Given the description of an element on the screen output the (x, y) to click on. 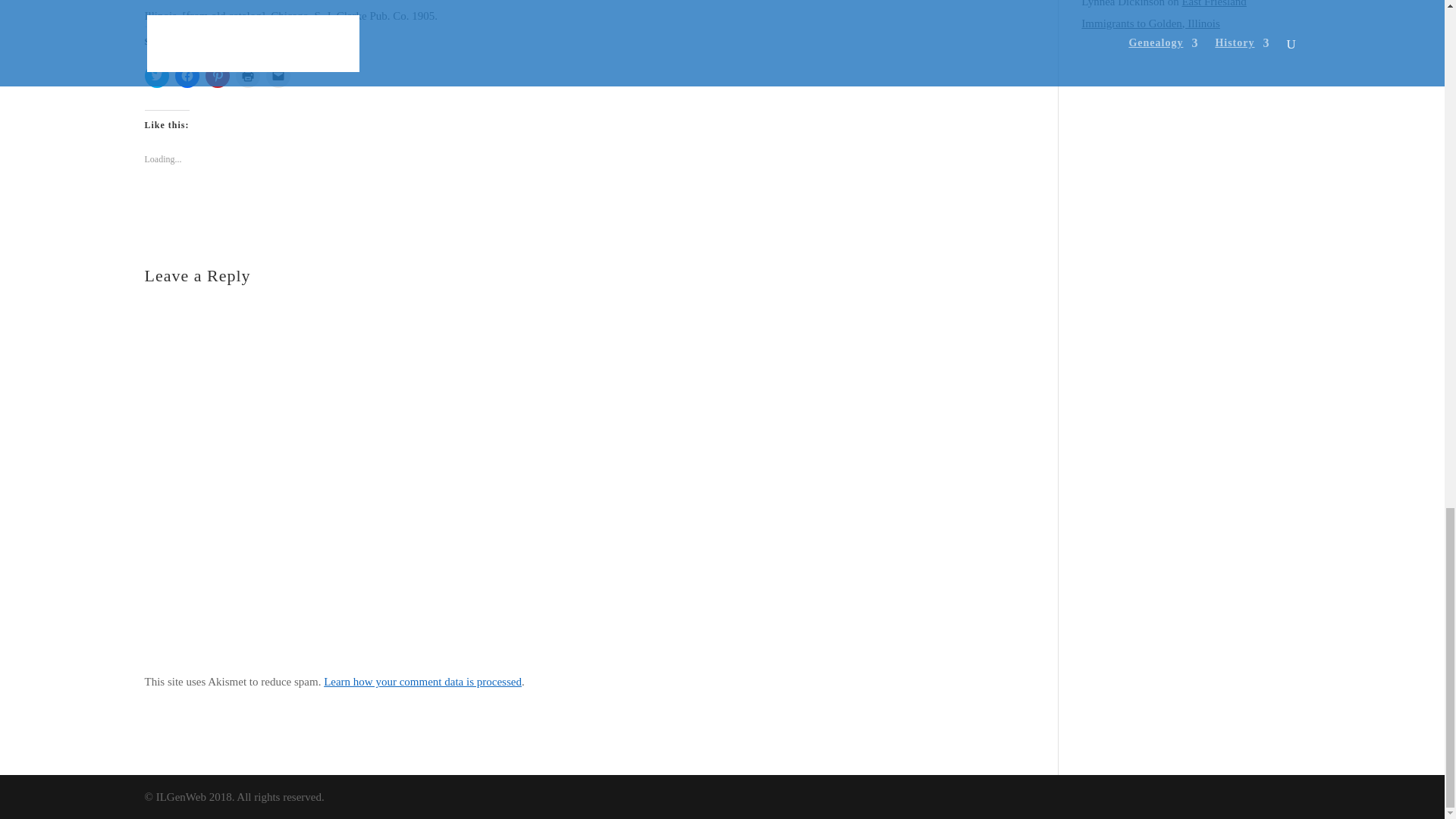
Click to email a link to a friend (276, 75)
Learn how your comment data is processed (422, 681)
Click to share on Pinterest (216, 75)
Click to share on Facebook (186, 75)
Click to share on Twitter (156, 75)
Click to print (246, 75)
